Given the description of an element on the screen output the (x, y) to click on. 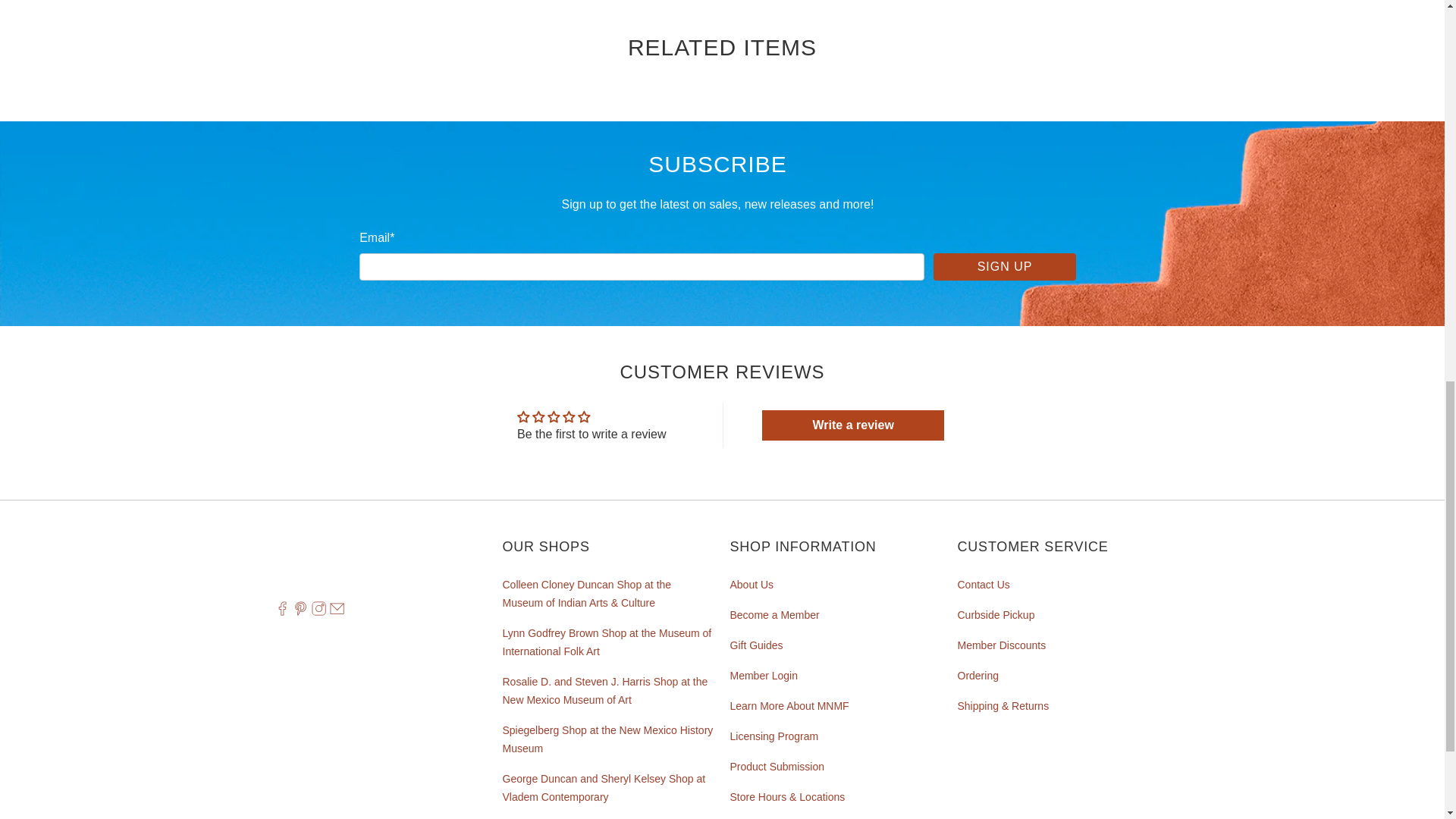
Museum of New Mexico Foundation Shops (359, 561)
Museum of New Mexico Foundation Shops on Pinterest (300, 612)
Museum of New Mexico Foundation Shops on Facebook (281, 612)
